Given the description of an element on the screen output the (x, y) to click on. 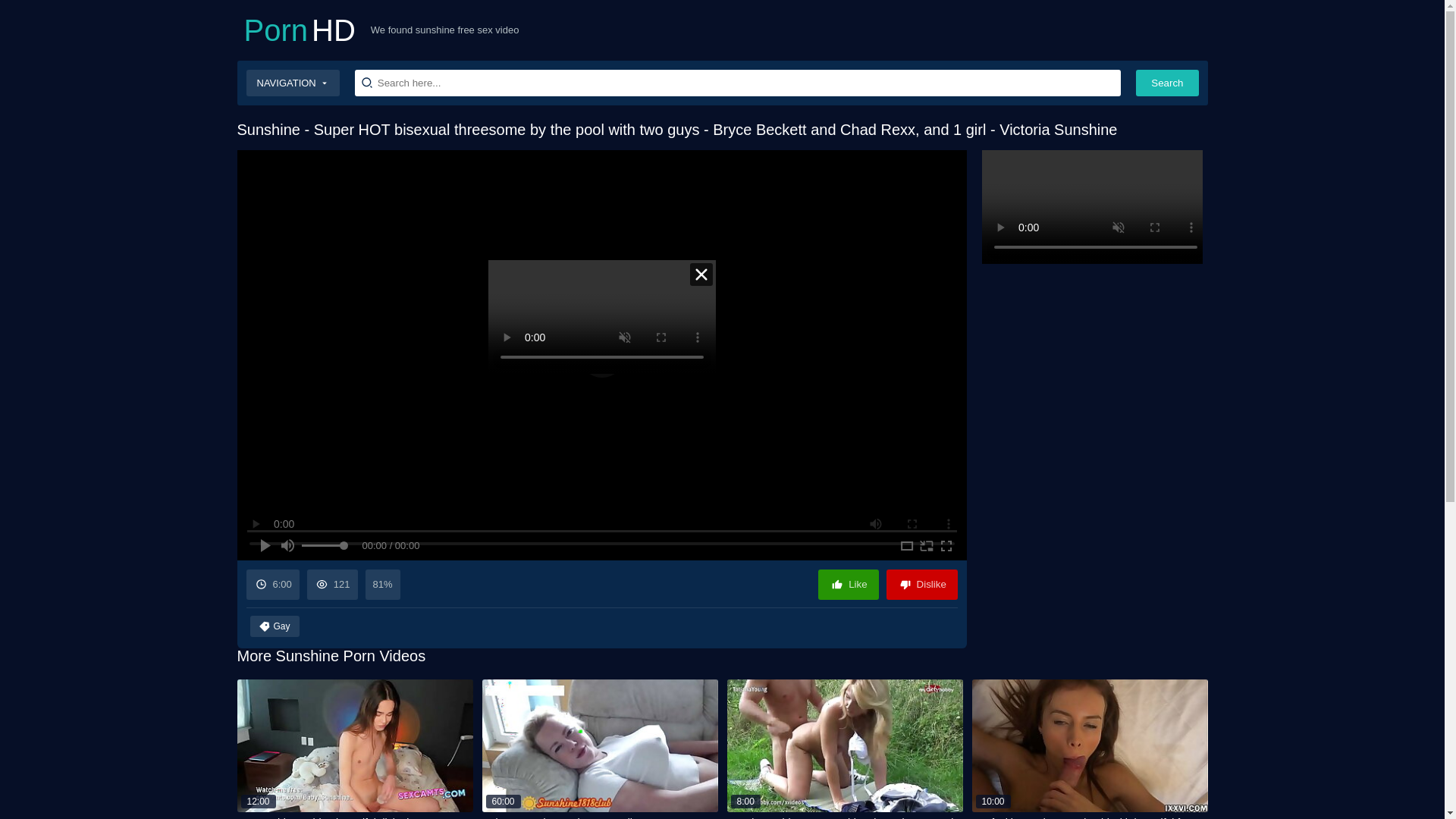
Search (1166, 82)
webcams webcam show recording May 26st (844, 749)
Teen TGirl Sunshine beautiful dick play part 3 (599, 749)
My Dirty Hobby - No sunshine, how about a cock? (353, 749)
Dislike (353, 749)
Search (844, 749)
Like (922, 584)
Gay (1166, 82)
Porn XXX Clips (847, 584)
